Given the description of an element on the screen output the (x, y) to click on. 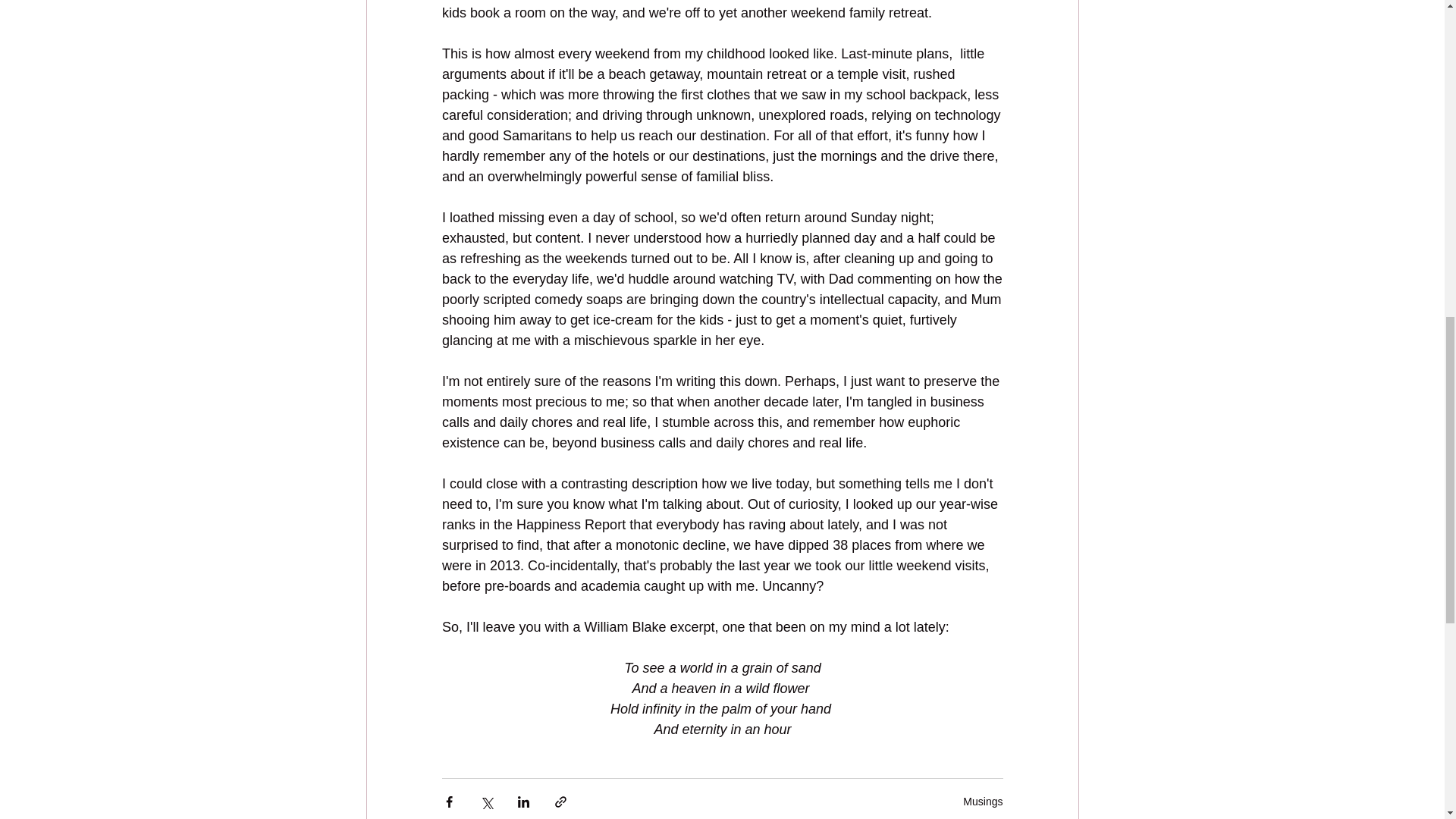
Musings (982, 800)
